Given the description of an element on the screen output the (x, y) to click on. 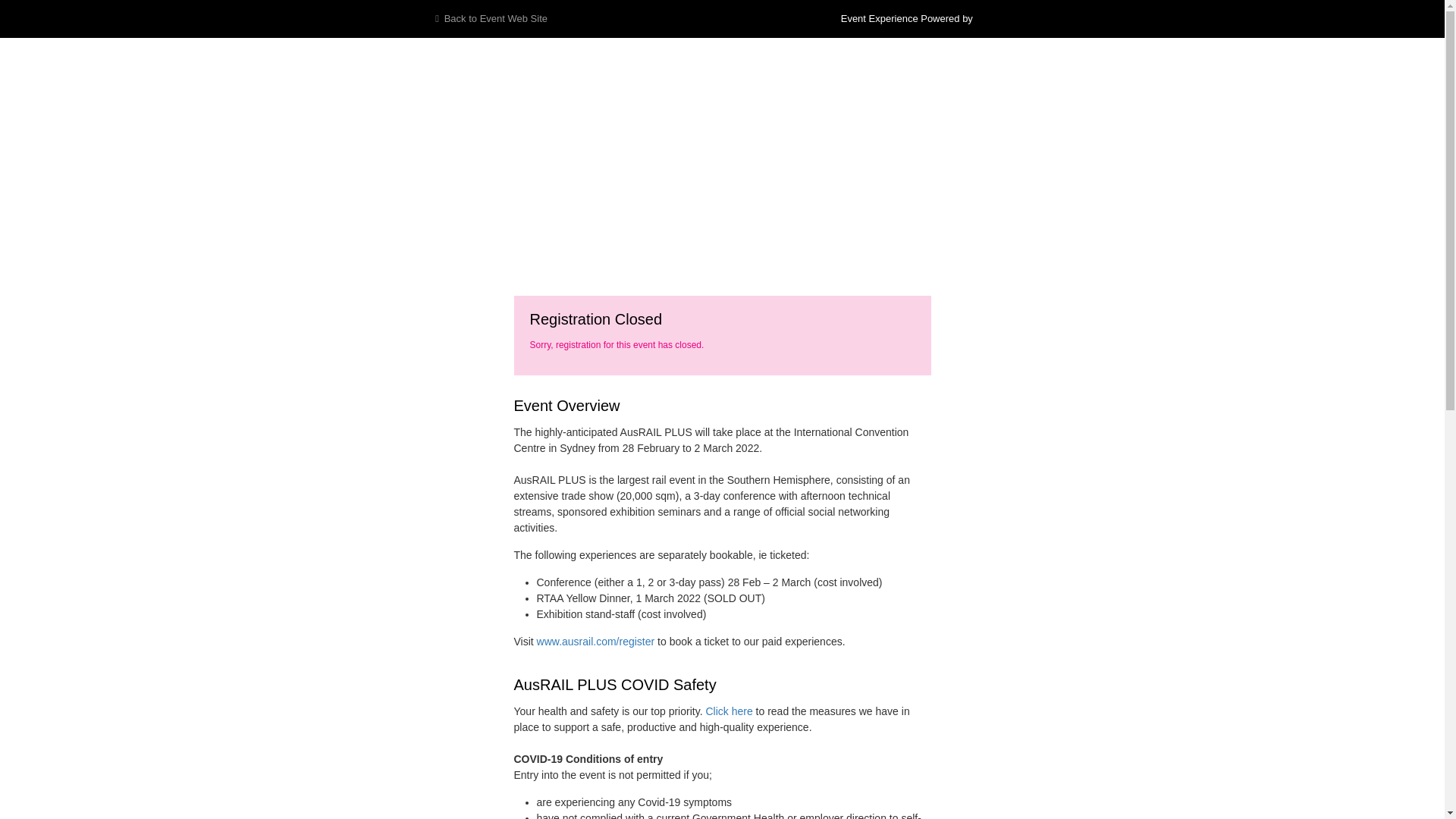
LUP (997, 18)
